Given the description of an element on the screen output the (x, y) to click on. 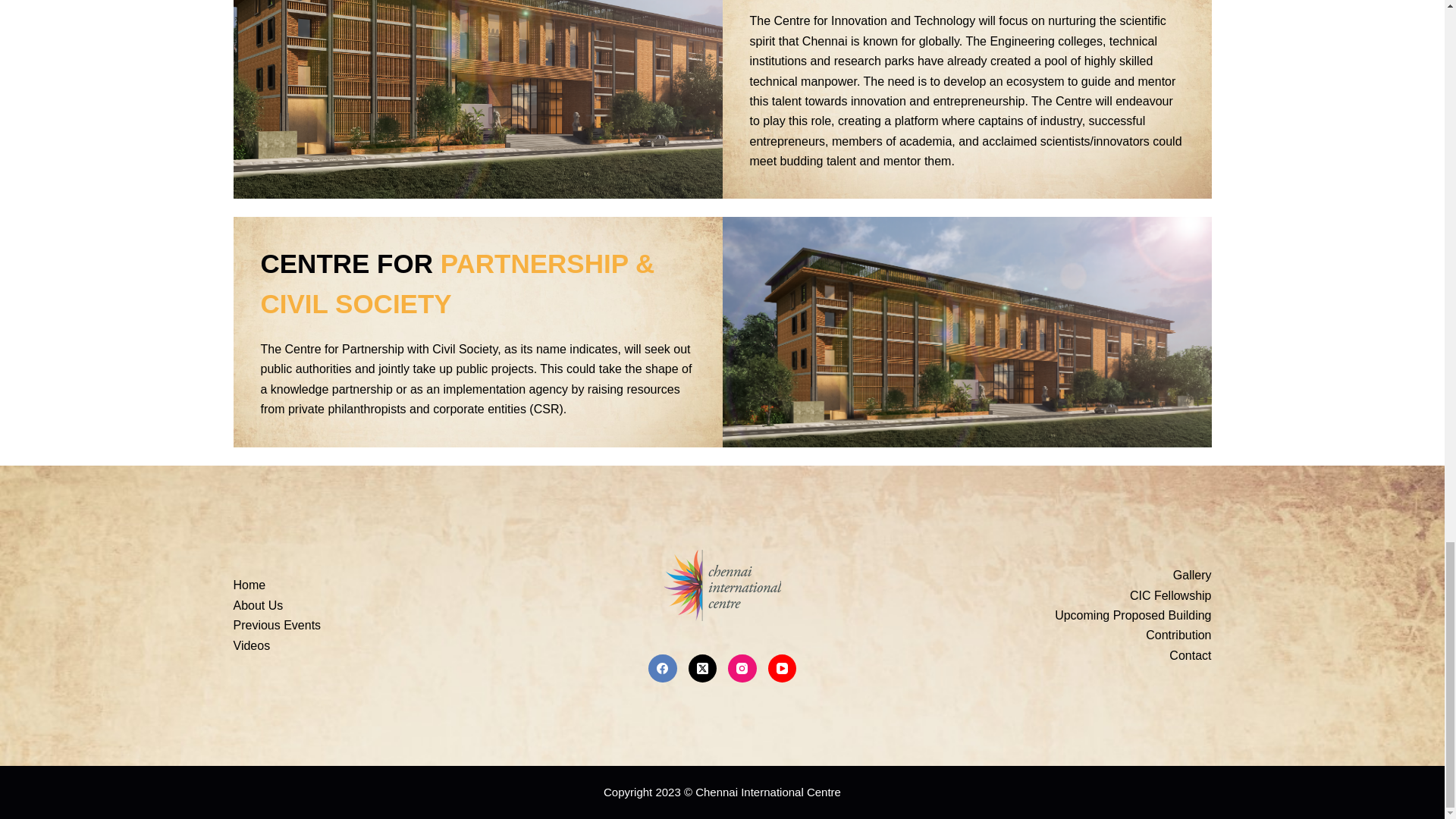
Home (249, 584)
